Given the description of an element on the screen output the (x, y) to click on. 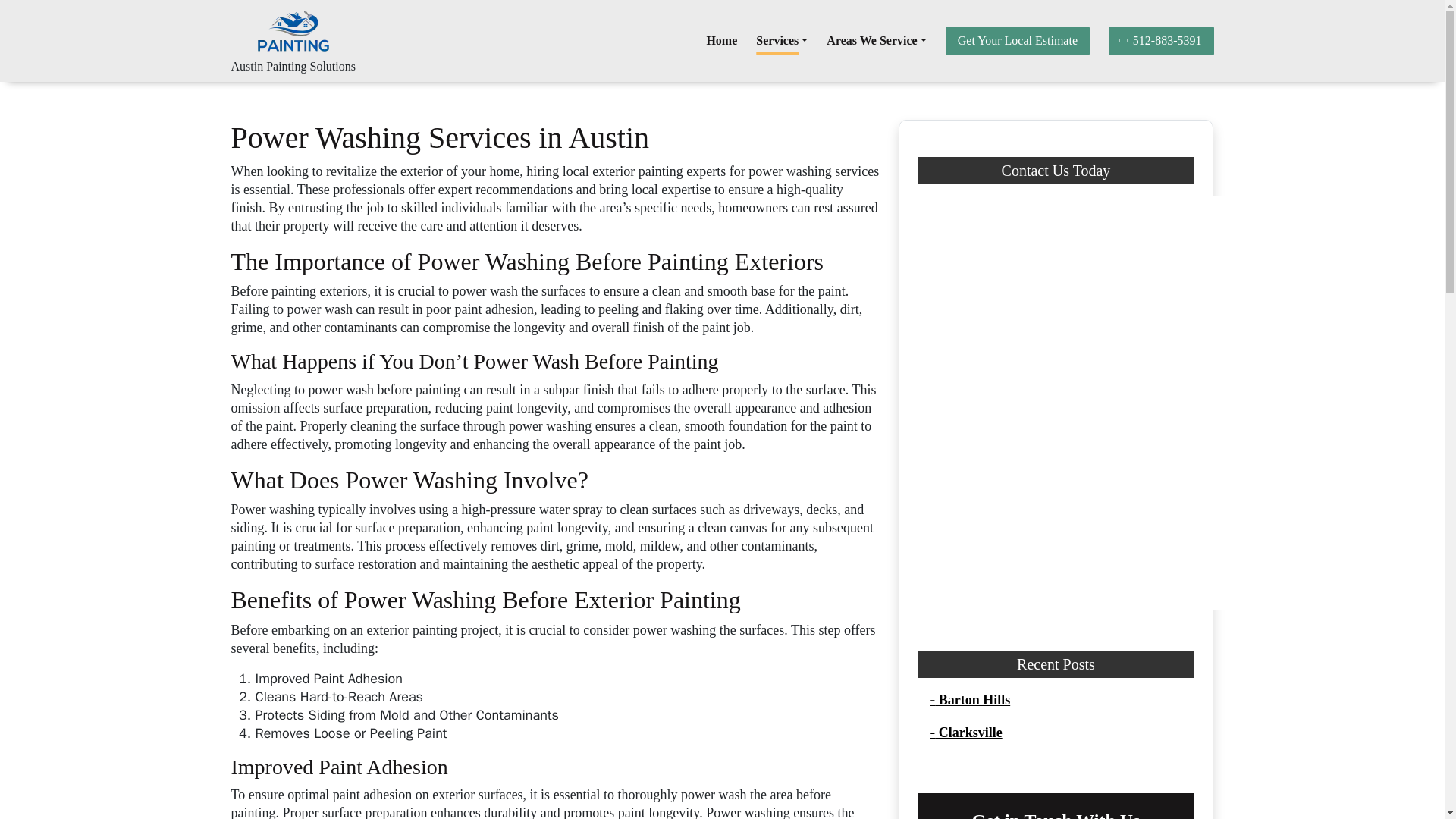
- Clarksville (965, 732)
512-883-5391 (1161, 40)
Austin Painting Solutions (292, 65)
Areas We Service (876, 40)
Home (721, 40)
- Barton Hills (970, 699)
Get Your Local Estimate (1016, 40)
Home (721, 40)
Services (781, 40)
Services (781, 40)
